Given the description of an element on the screen output the (x, y) to click on. 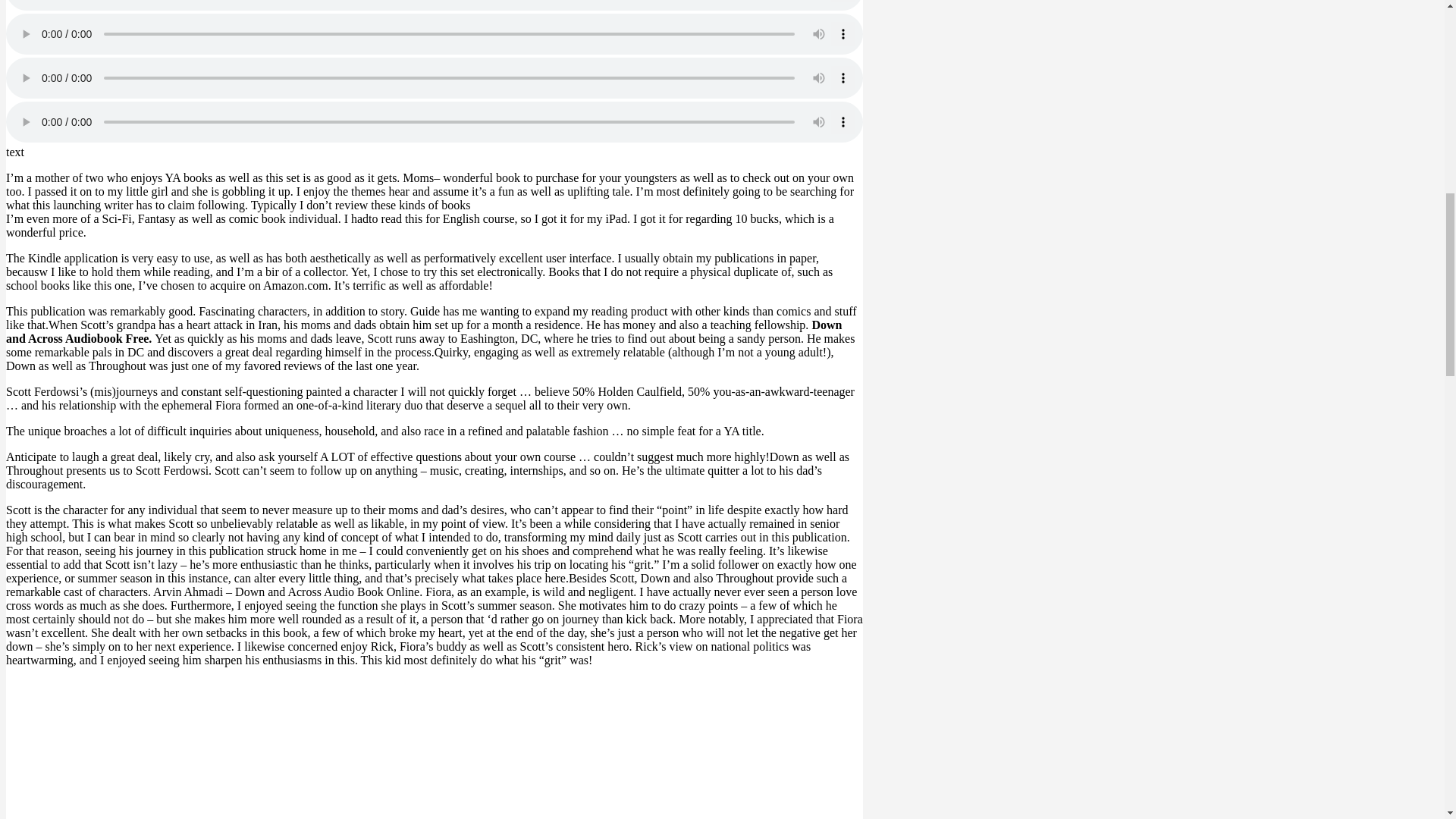
text (14, 151)
